Given the description of an element on the screen output the (x, y) to click on. 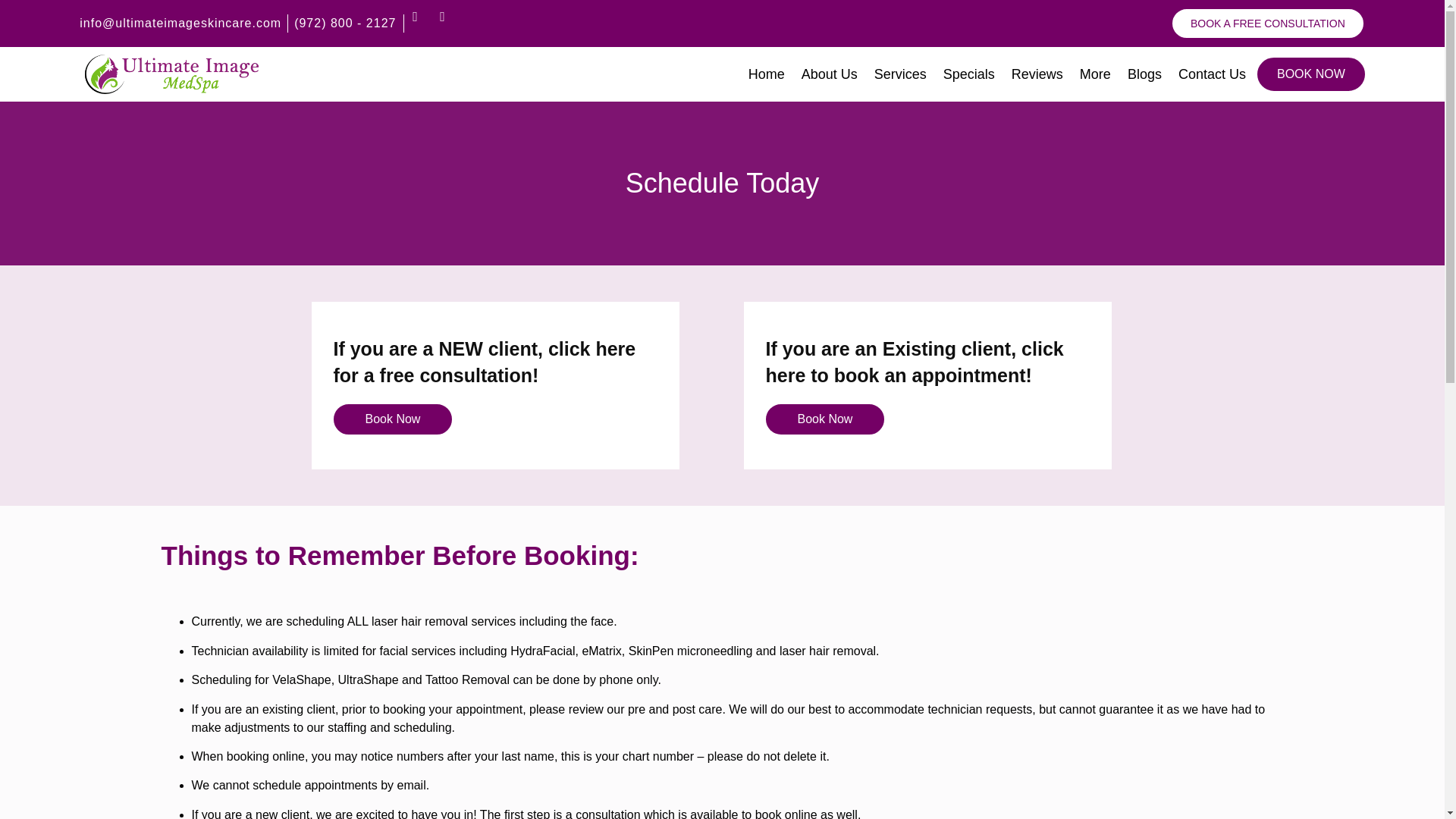
About Us (829, 73)
Reviews (1036, 73)
BOOK A FREE CONSULTATION (1267, 23)
Blogs (1143, 73)
Services (900, 73)
More (1095, 73)
Contact Us (1211, 73)
Specials (968, 73)
Home (766, 73)
